Given the description of an element on the screen output the (x, y) to click on. 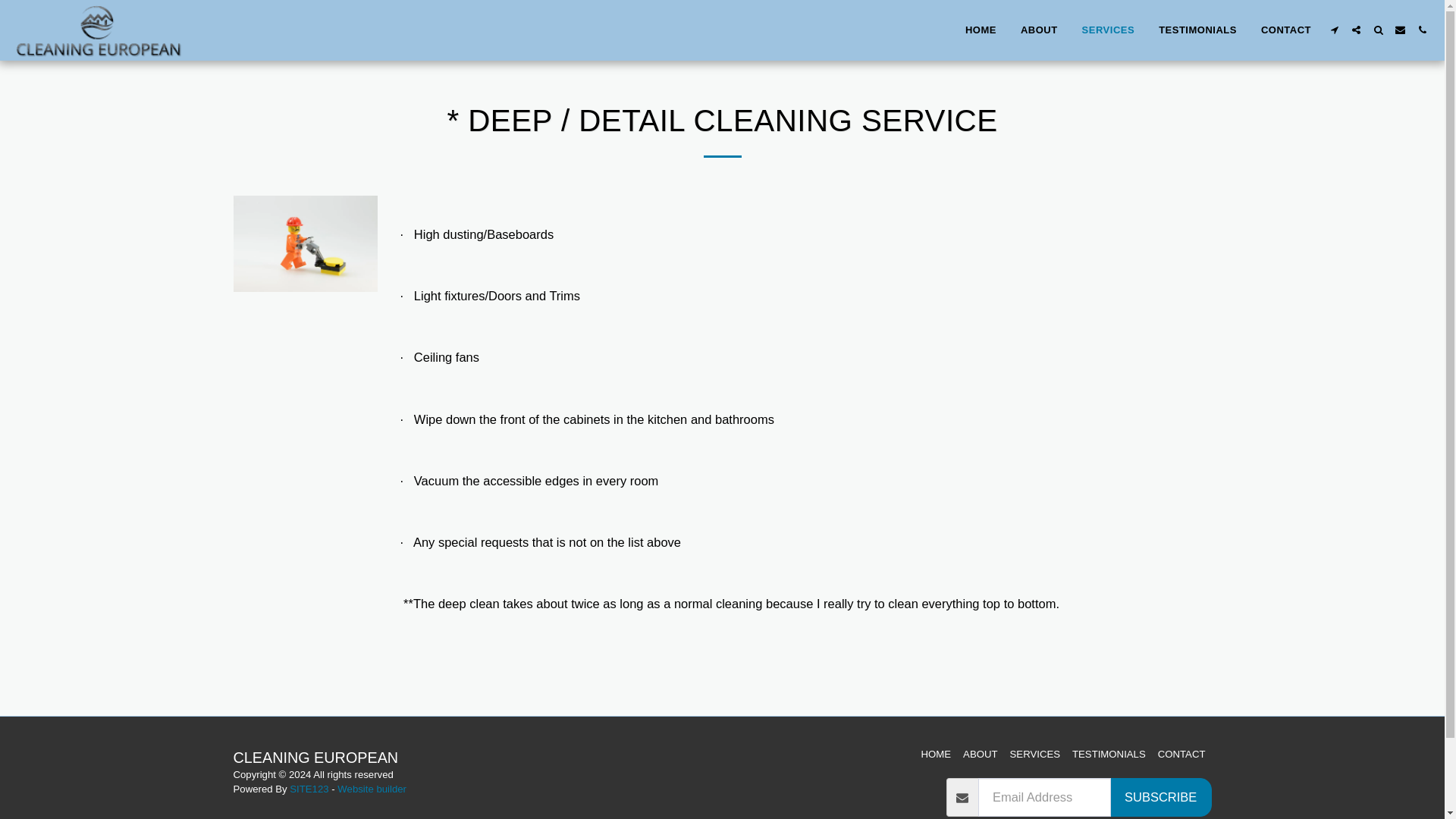
TESTIMONIALS (1197, 29)
ABOUT (1038, 29)
SITE123 (309, 788)
CONTACT (1285, 29)
SUBSCRIBE (1160, 797)
Website builder (371, 788)
TESTIMONIALS (1108, 754)
